Given the description of an element on the screen output the (x, y) to click on. 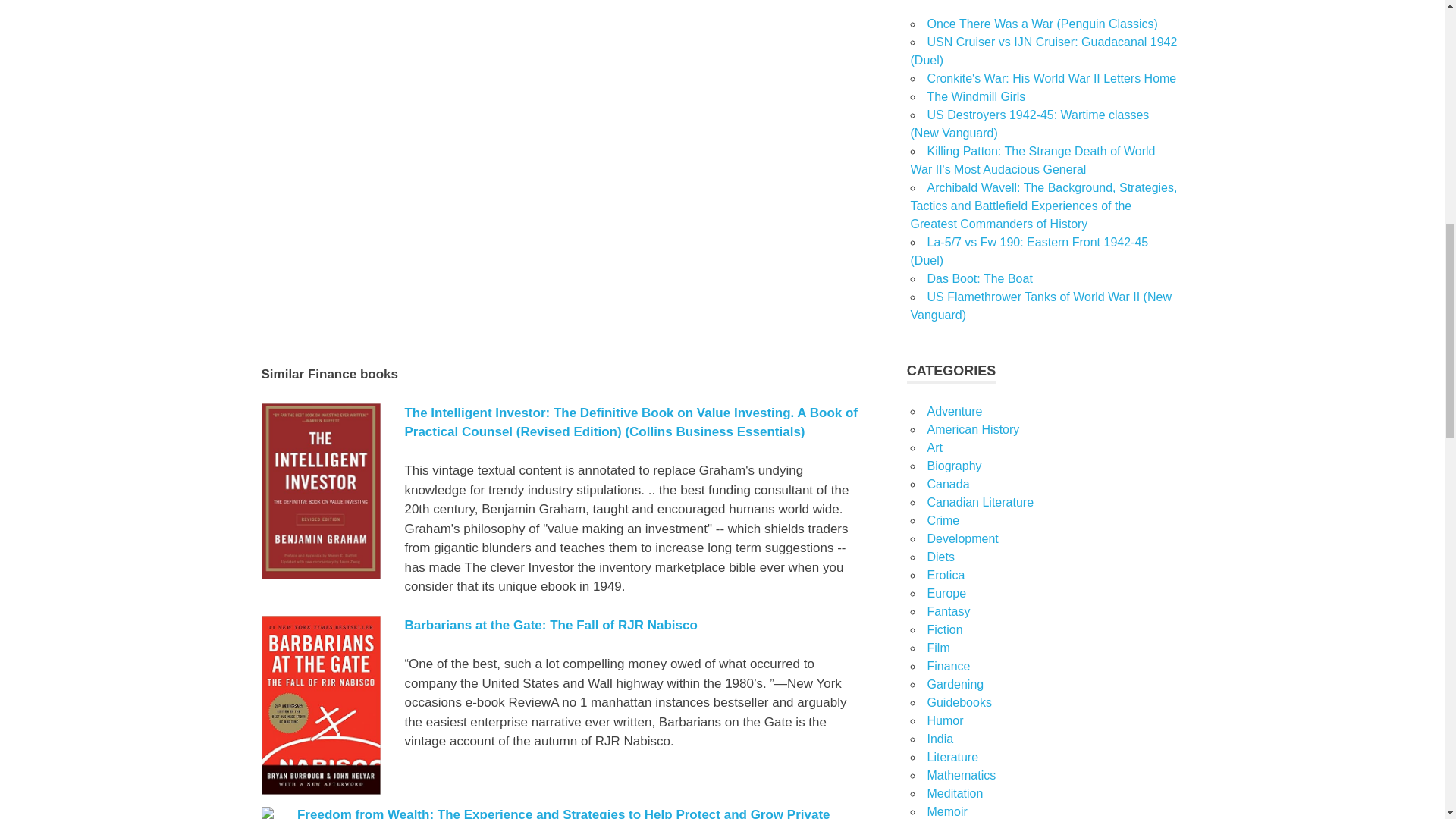
The Windmill Girls (975, 96)
Barbarians at the Gate: The Fall of RJR Nabisco (550, 625)
Cronkite's War: His World War II Letters Home (1051, 78)
